Given the description of an element on the screen output the (x, y) to click on. 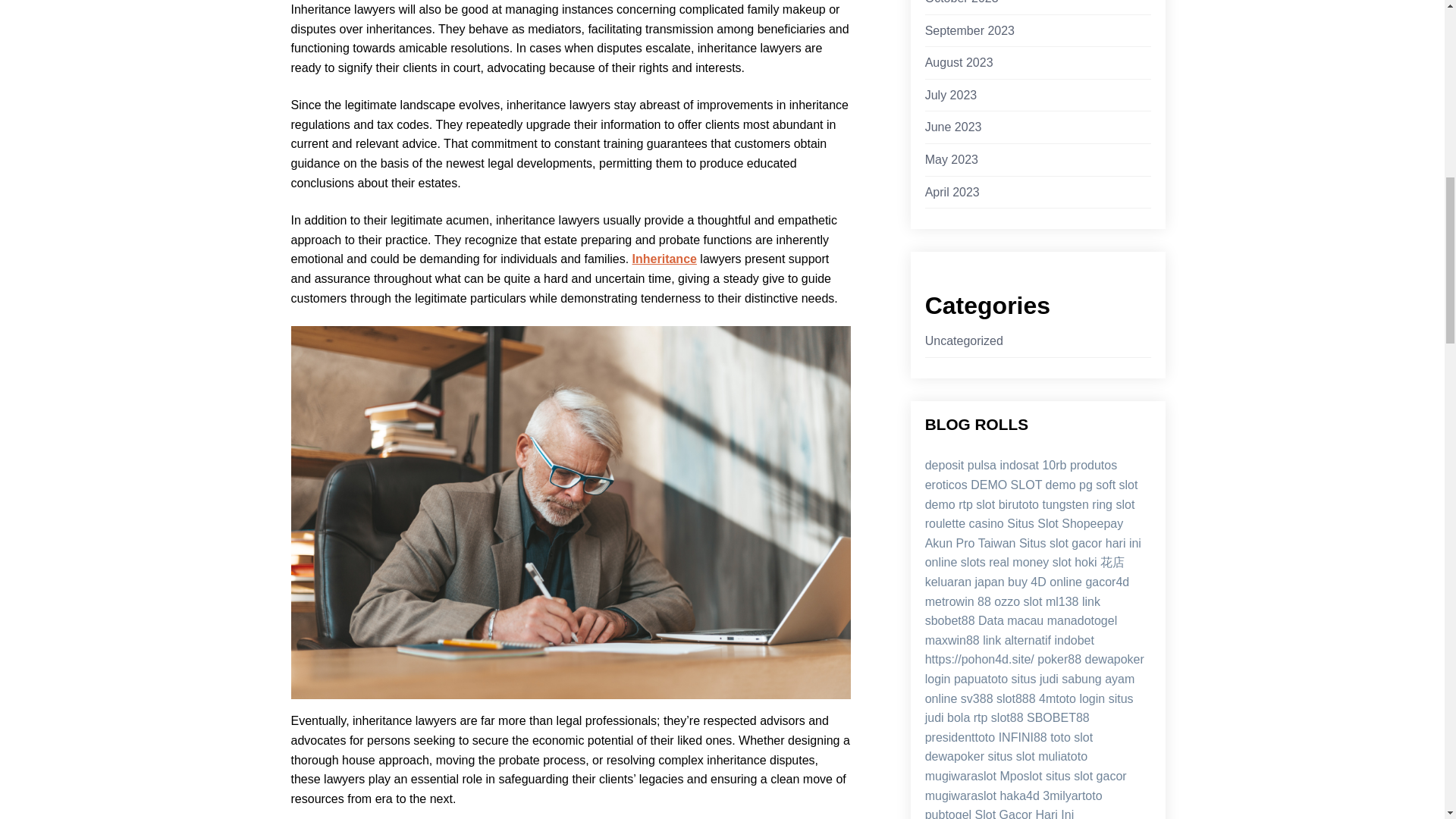
Inheritance (664, 258)
